Given the description of an element on the screen output the (x, y) to click on. 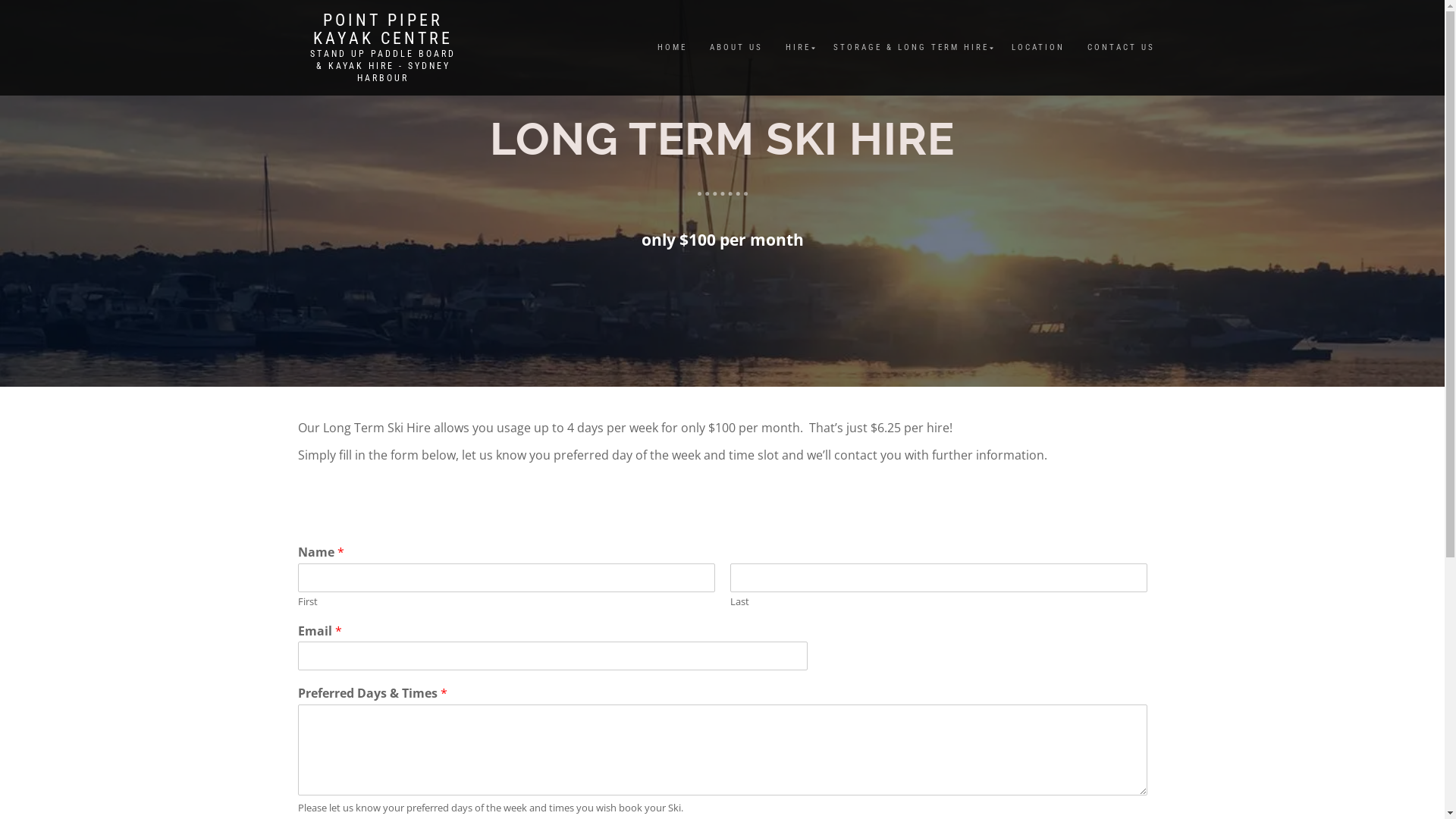
ABOUT US Element type: text (735, 47)
LOCATION Element type: text (1037, 47)
STORAGE & LONG TERM HIRE Element type: text (911, 47)
STAND UP PADDLE BOARD & KAYAK HIRE - SYDNEY HARBOUR Element type: text (382, 65)
CONTACT US Element type: text (1120, 47)
POINT PIPER KAYAK CENTRE Element type: text (382, 29)
HIRE Element type: text (797, 47)
HOME Element type: text (672, 47)
